Given the description of an element on the screen output the (x, y) to click on. 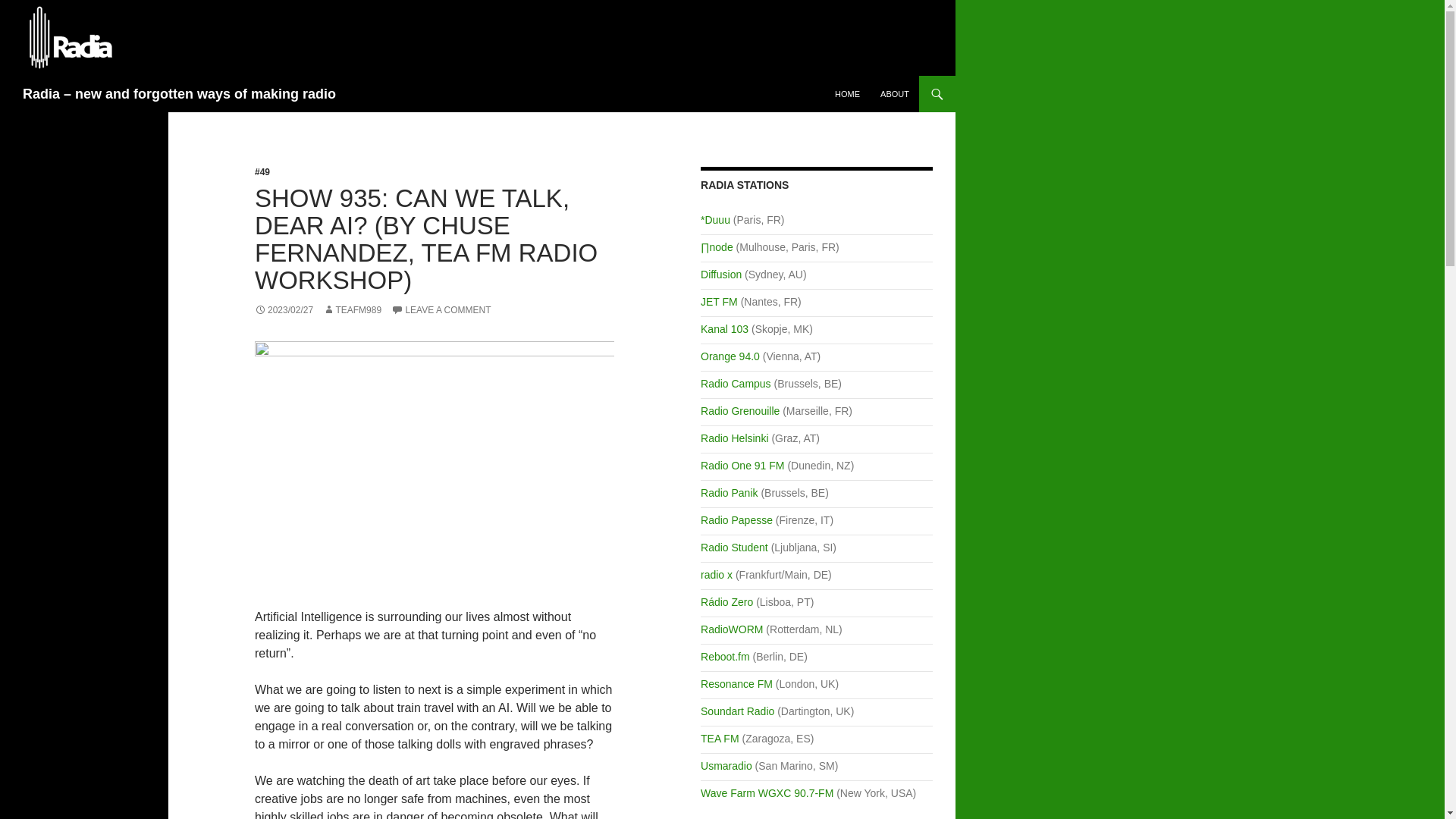
Kanal 103 (724, 328)
Soundart Radio (737, 711)
Usmaradio (726, 766)
JET FM (719, 301)
HOME (847, 94)
Radio One 91 FM (742, 465)
Wave Farm WGXC 90.7-FM (766, 793)
Radio Grenouille (739, 410)
Radio Papesse (736, 520)
Diffusion (720, 274)
Radio Panik (729, 492)
ABOUT (894, 94)
Radio Campus (735, 383)
Orange 94.0 (730, 356)
